Given the description of an element on the screen output the (x, y) to click on. 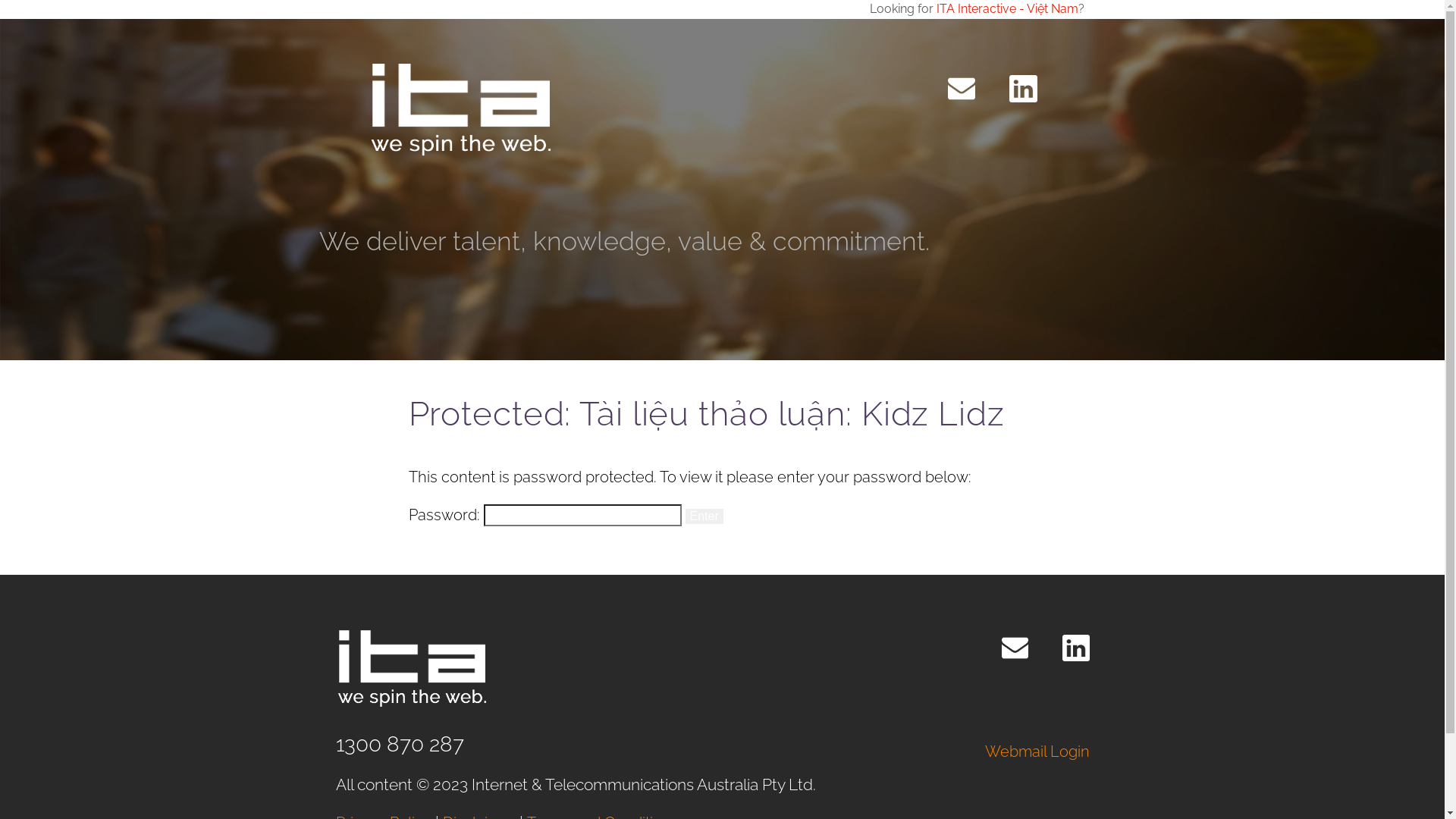
visit ita at linkedin Element type: hover (1022, 88)
Enter Element type: text (704, 516)
Webmail Login Element type: text (1037, 751)
contact us Element type: hover (961, 88)
